Given the description of an element on the screen output the (x, y) to click on. 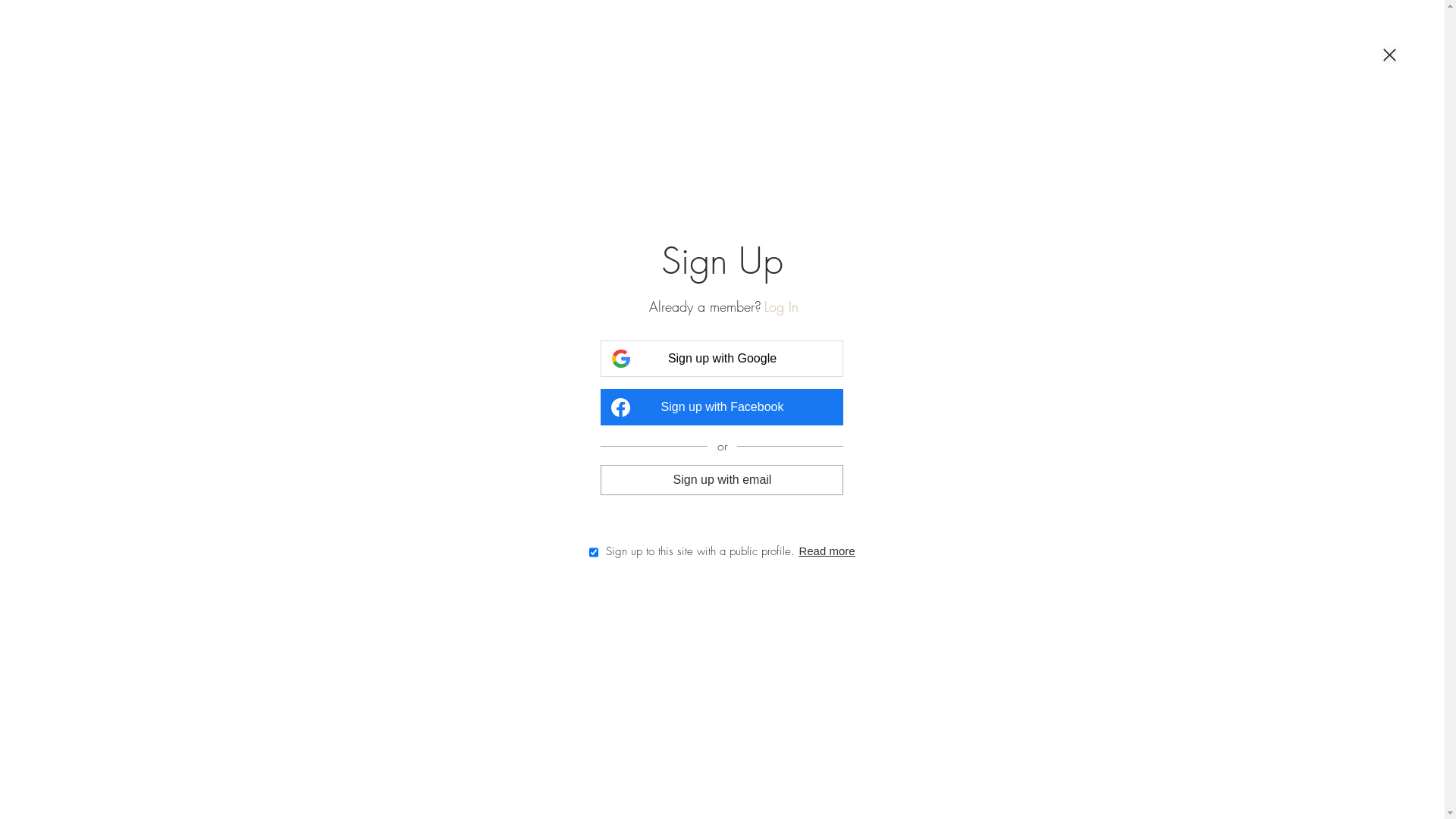
Sign up with Facebook Element type: text (721, 407)
Log In Element type: text (781, 306)
Sign up with email Element type: text (721, 479)
Sign up with Google Element type: text (721, 358)
Read more Element type: text (826, 550)
